Given the description of an element on the screen output the (x, y) to click on. 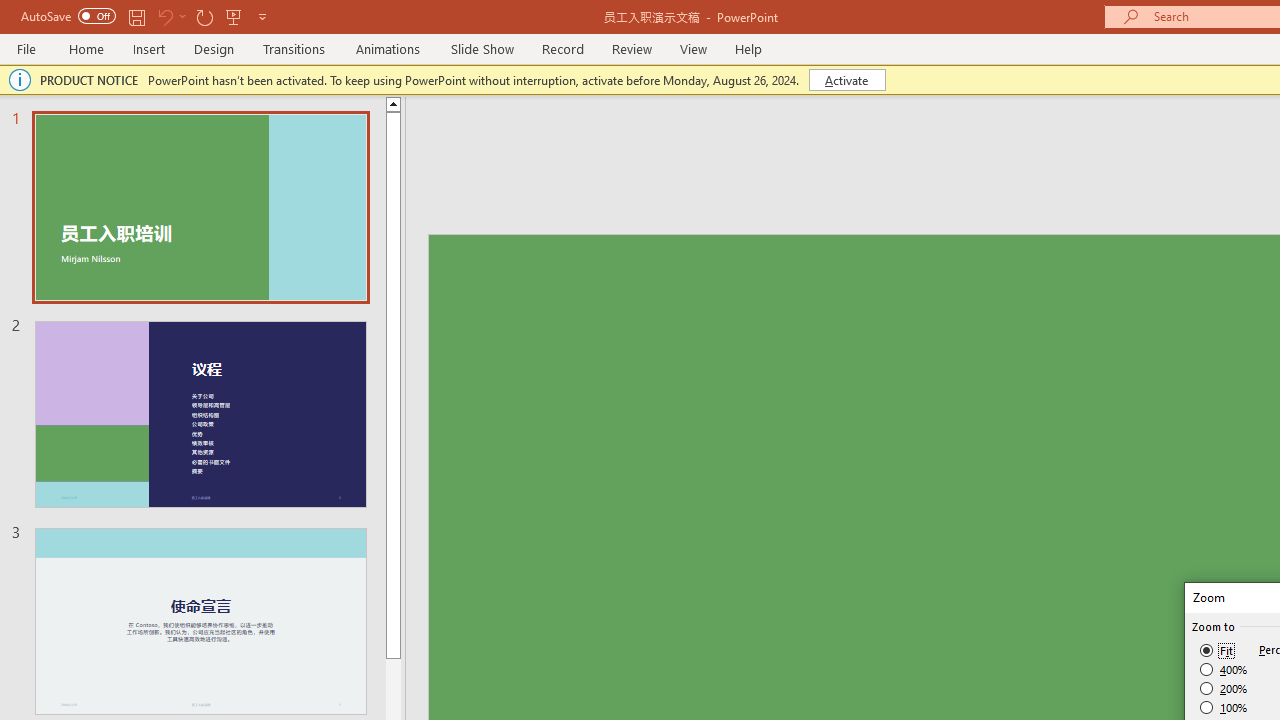
macOS (595, 586)
Microsoft 365 (725, 208)
Windows (408, 587)
Microsoft 365 (725, 208)
